Given the description of an element on the screen output the (x, y) to click on. 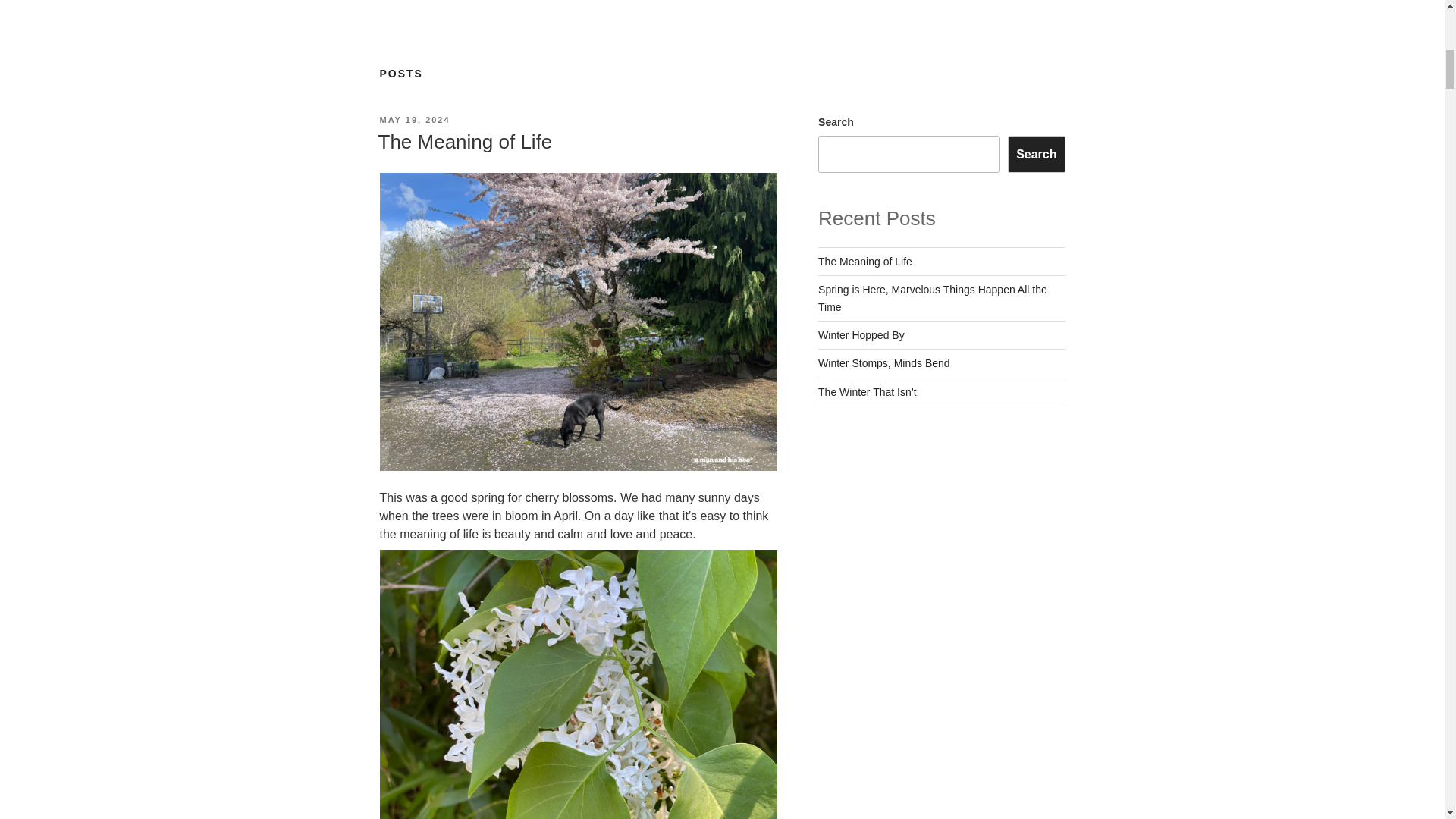
Spring is Here, Marvelous Things Happen All the Time (932, 297)
The Meaning of Life (865, 261)
Search (1035, 153)
Winter Hopped By (861, 335)
MAY 19, 2024 (413, 119)
Winter Stomps, Minds Bend (884, 363)
The Meaning of Life (464, 141)
